Given the description of an element on the screen output the (x, y) to click on. 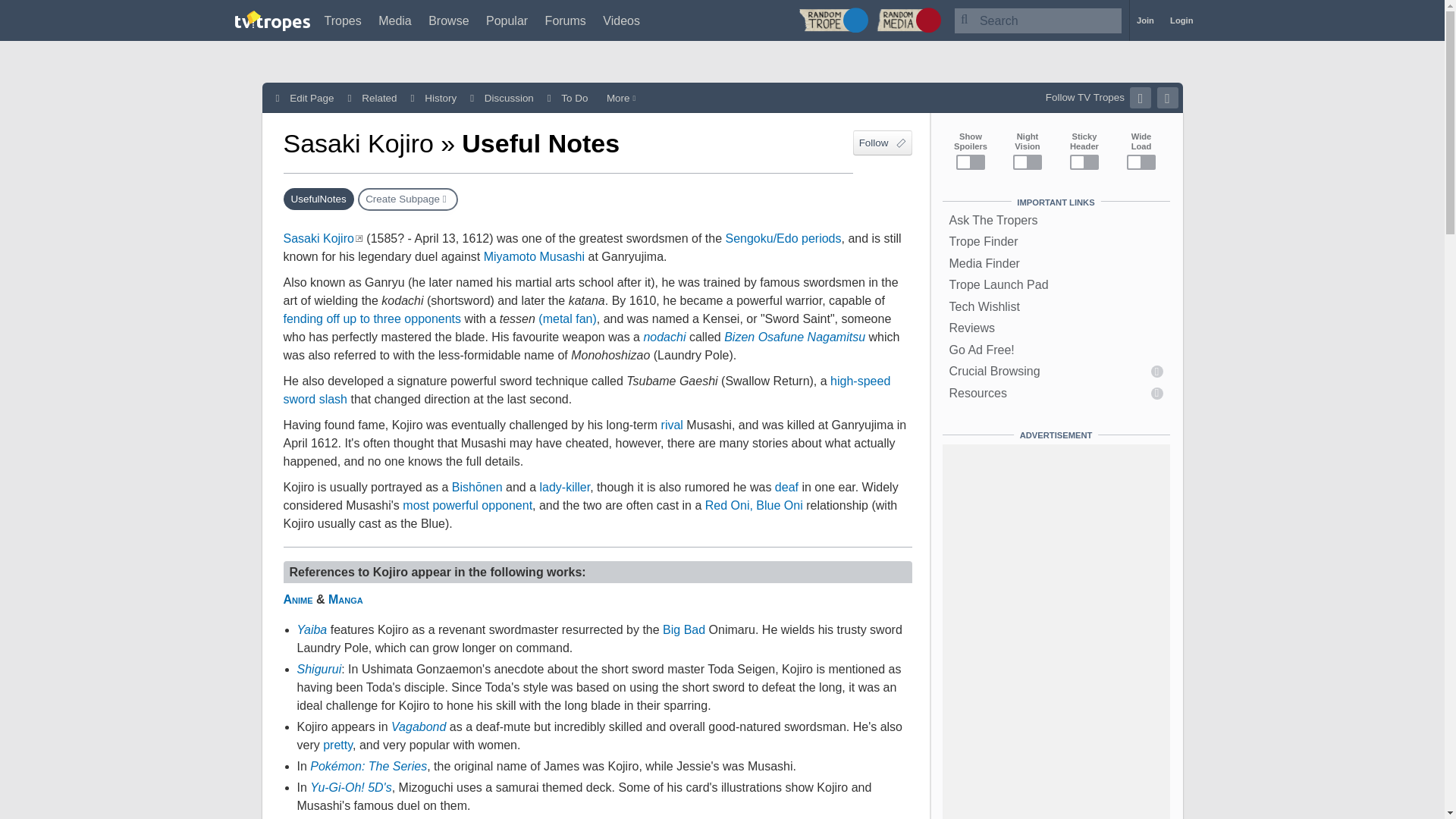
Browse (448, 20)
Media (395, 20)
Videos (621, 20)
Forums (565, 20)
Tropes (342, 20)
Login (1181, 20)
Popular (506, 20)
The UsefulNotes page (318, 198)
